Given the description of an element on the screen output the (x, y) to click on. 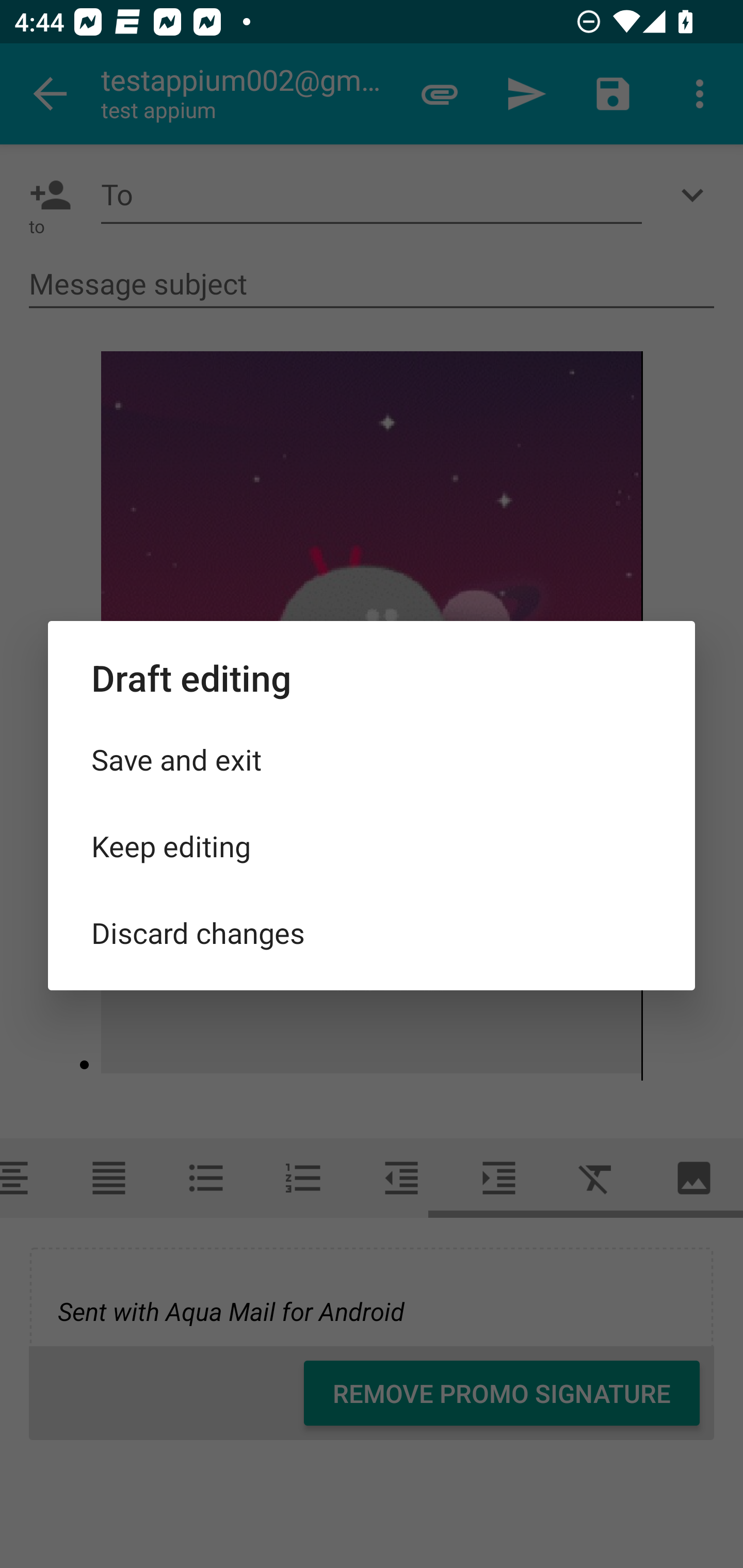
Save and exit (371, 759)
Keep editing (371, 845)
Discard changes (371, 932)
